Given the description of an element on the screen output the (x, y) to click on. 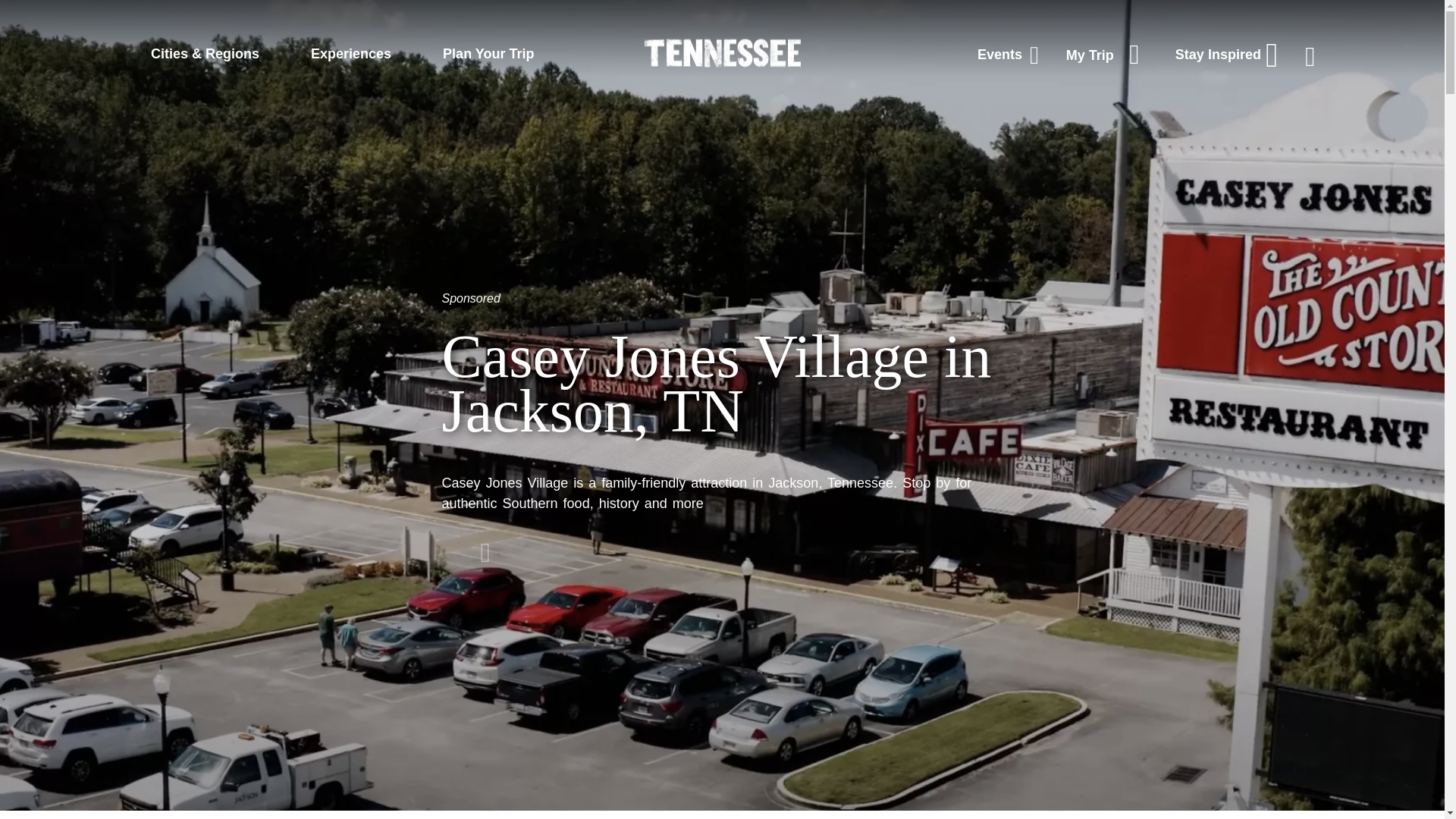
Events (1007, 54)
Experiences (351, 53)
My Trip (1106, 55)
Sign me up (858, 23)
Stay Inspired (1226, 54)
Plan Your Trip (488, 53)
